Given the description of an element on the screen output the (x, y) to click on. 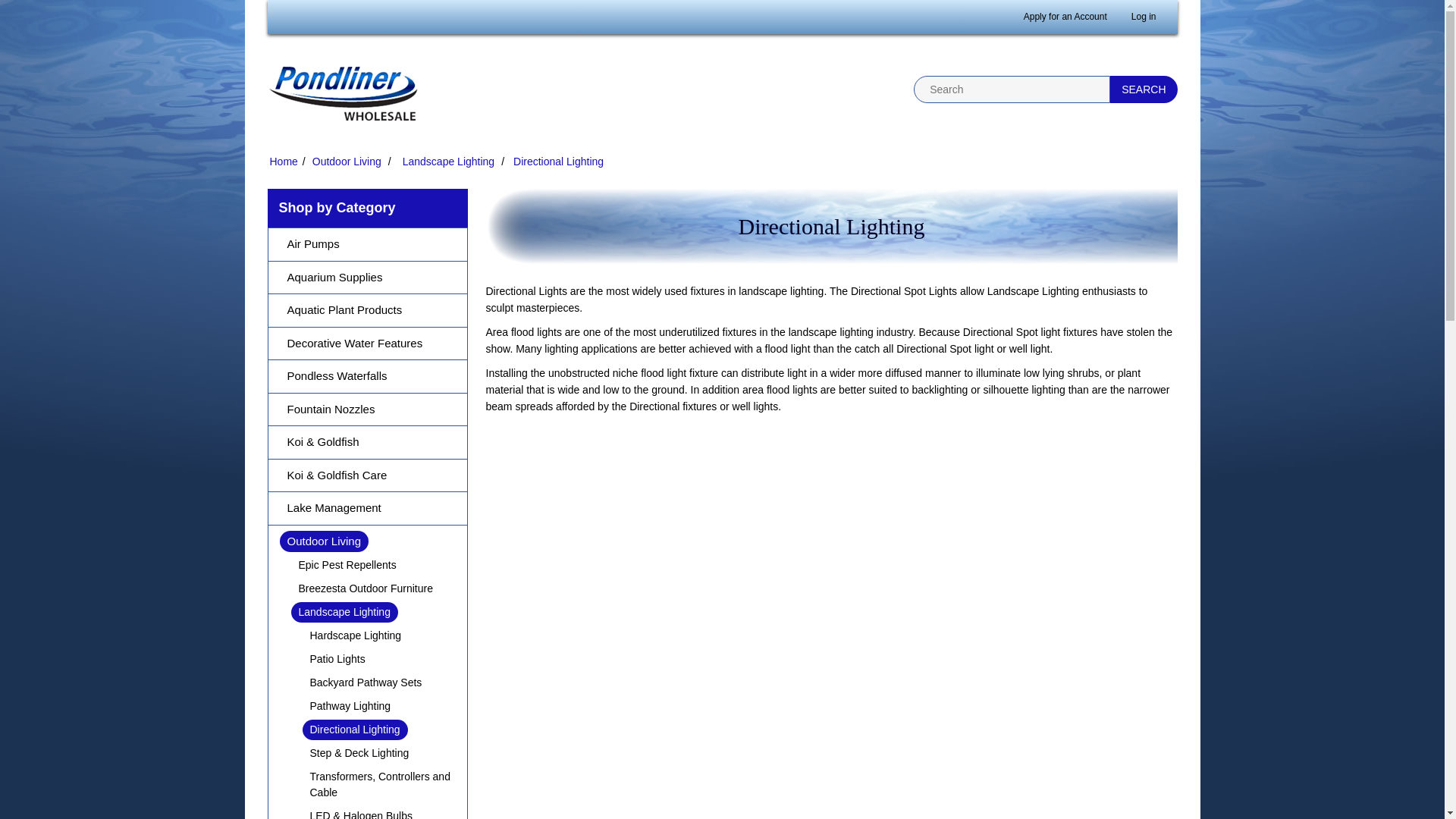
Apply for an Account (1064, 17)
Search (1142, 89)
Search (1142, 89)
Outdoor Living (347, 161)
Landscape Lighting (448, 161)
Search (1142, 89)
Home (283, 161)
